Given the description of an element on the screen output the (x, y) to click on. 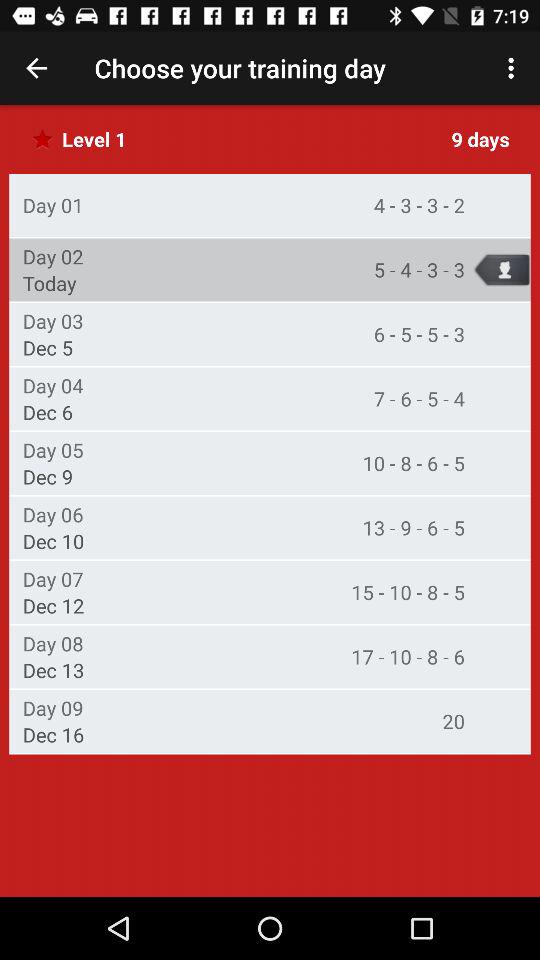
launch the day 07 item (52, 578)
